Given the description of an element on the screen output the (x, y) to click on. 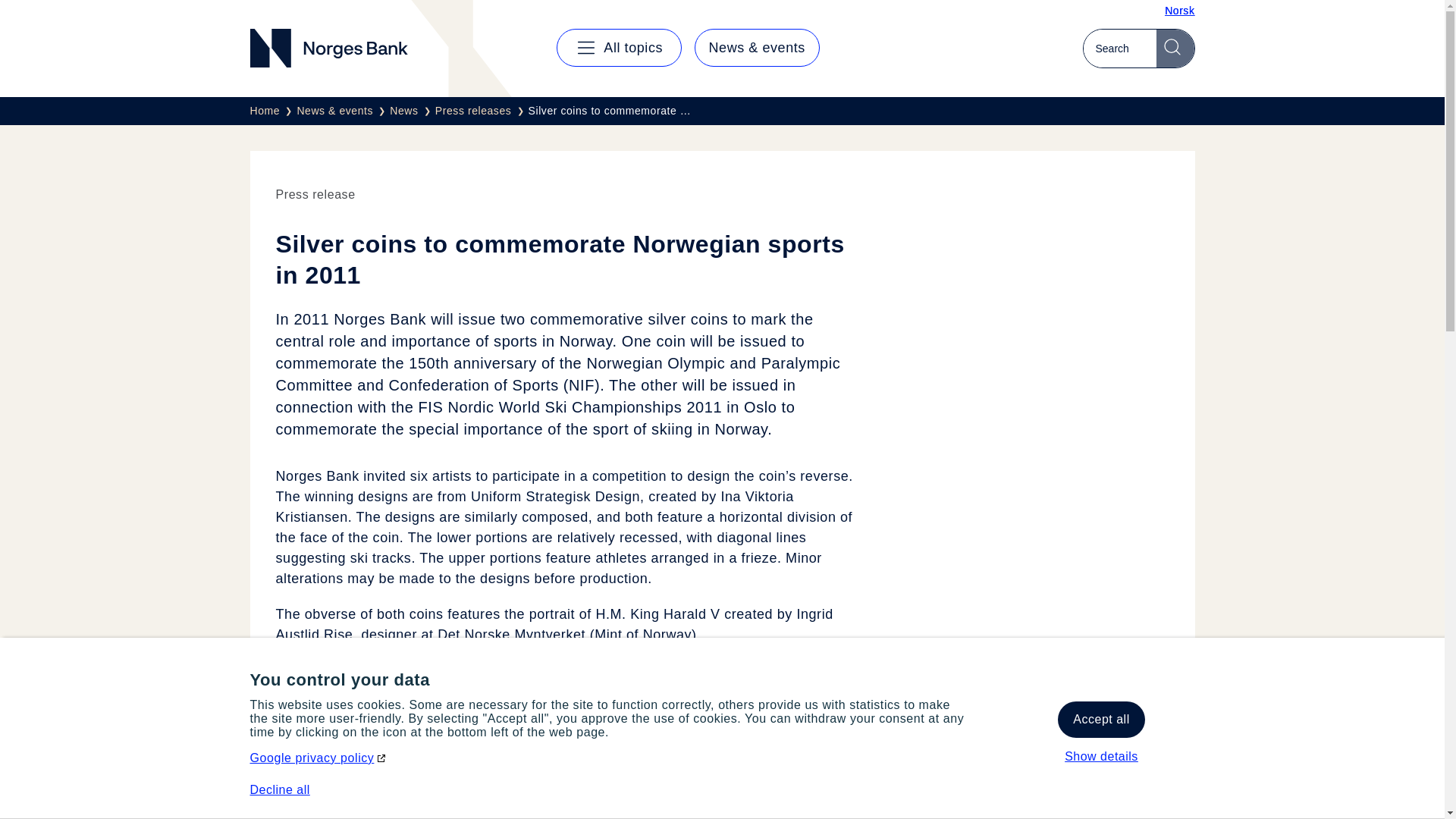
All topics (618, 47)
Norsk (1178, 10)
Search (1174, 48)
Accept all (1101, 719)
Google privacy policy (319, 757)
Show details (1101, 756)
Decline all (280, 789)
